Given the description of an element on the screen output the (x, y) to click on. 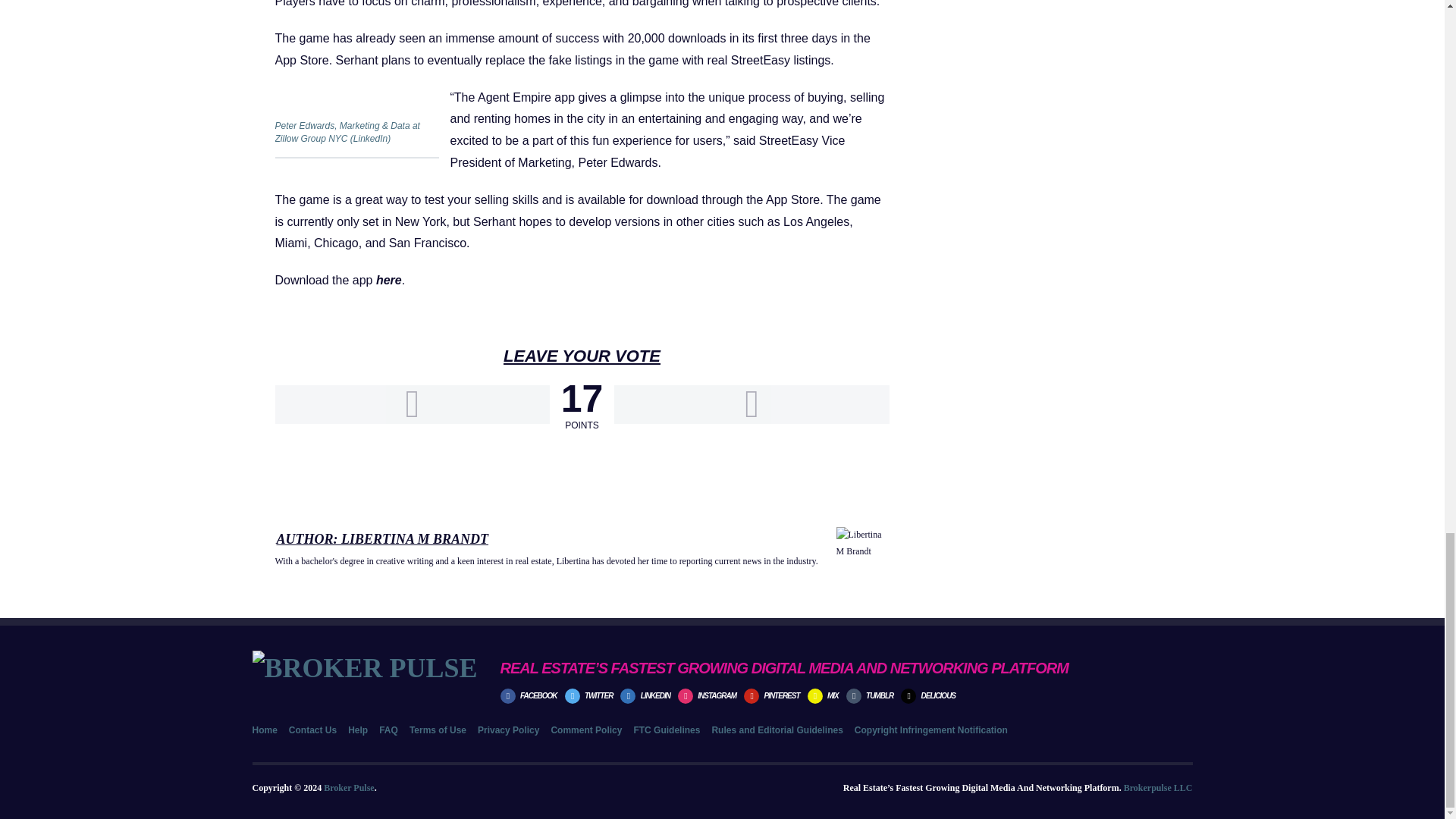
WPZOOM WordPress Themes (1158, 787)
Upvote (411, 404)
Downvote (751, 404)
here (388, 279)
Downvote (751, 404)
LIBERTINA M BRANDT (413, 539)
Upvote (411, 404)
